Given the description of an element on the screen output the (x, y) to click on. 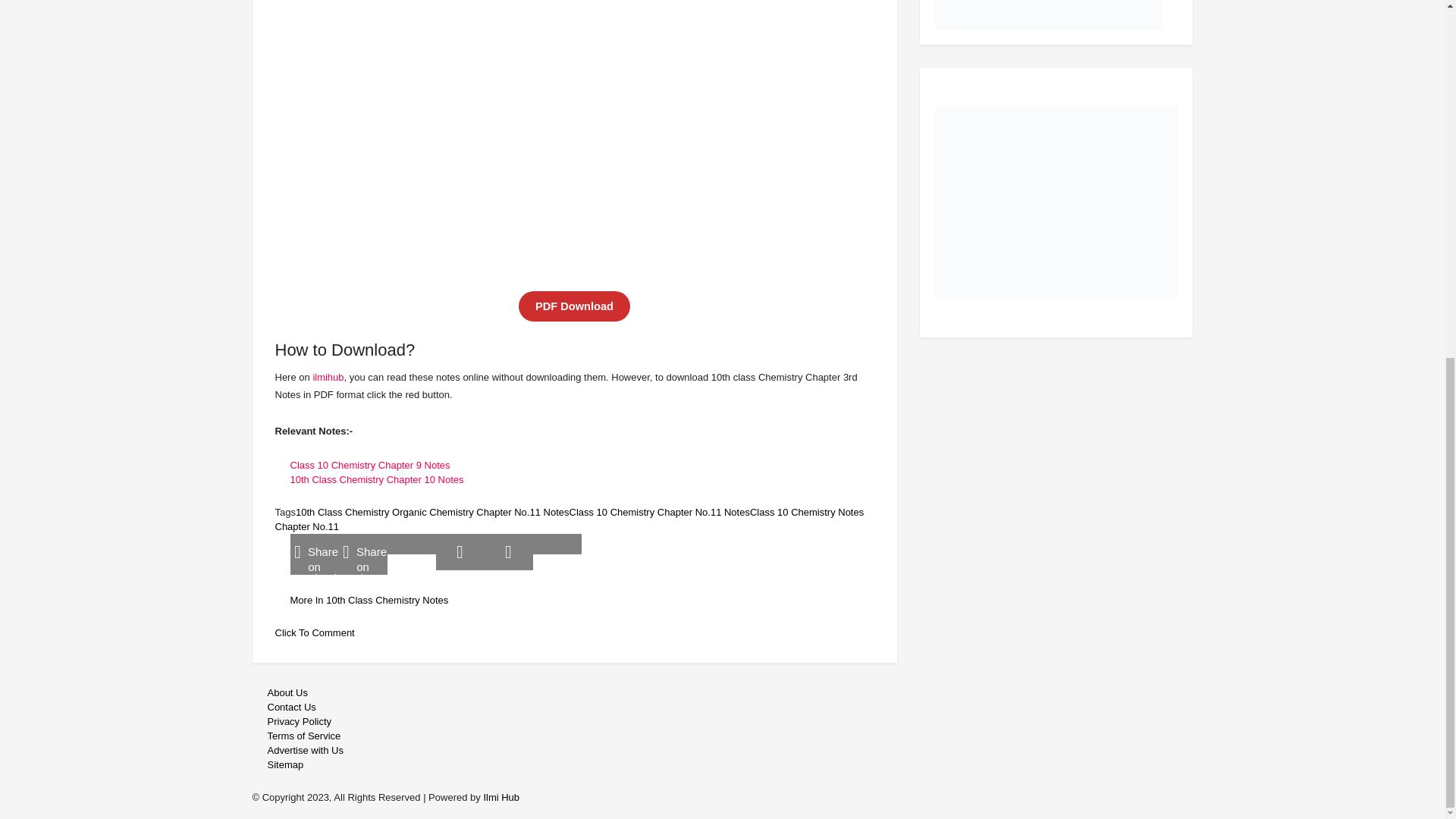
pinterest (459, 551)
reddit (411, 543)
linkedin (507, 551)
